Given the description of an element on the screen output the (x, y) to click on. 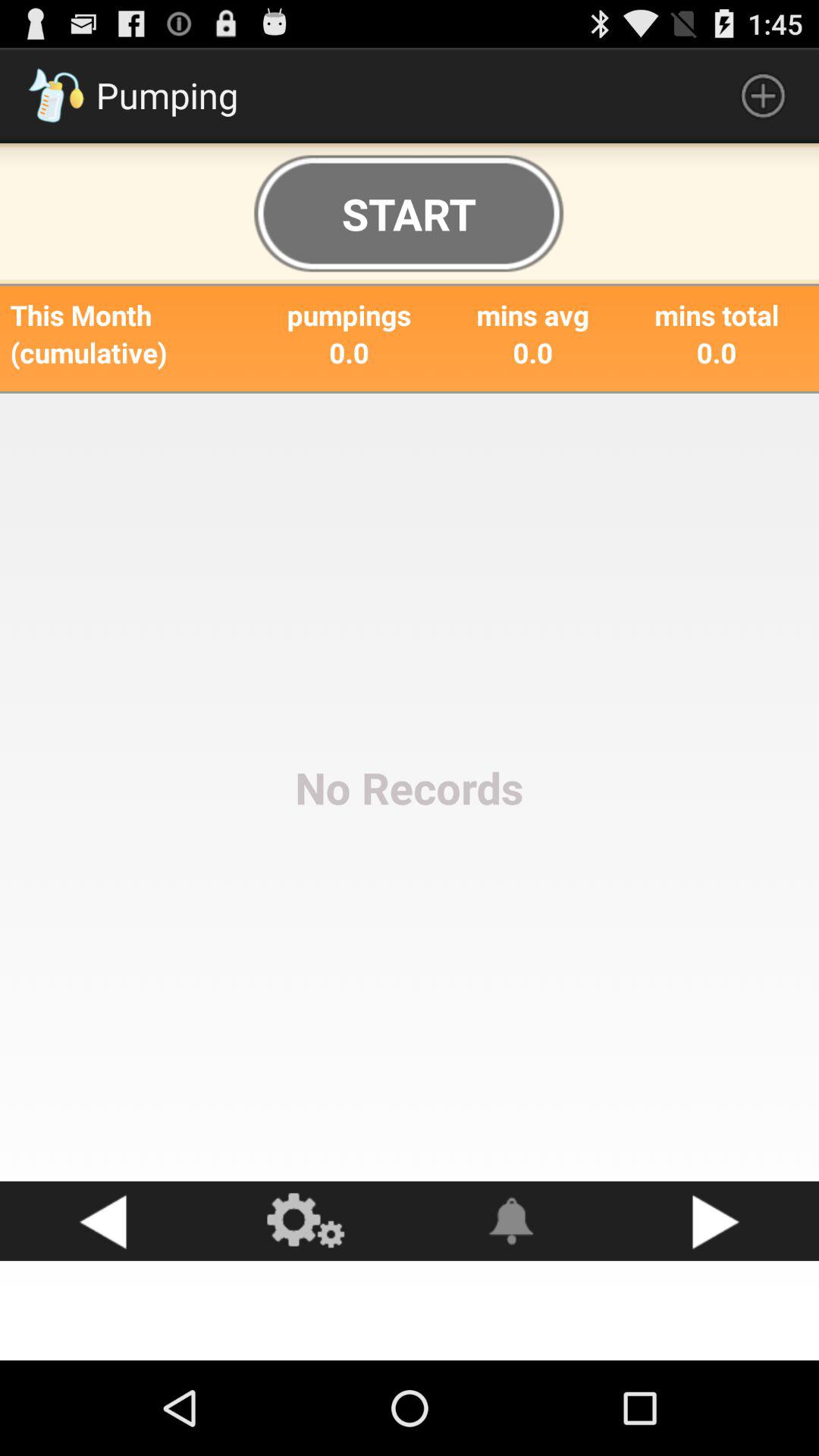
go to previous month (102, 1220)
